Given the description of an element on the screen output the (x, y) to click on. 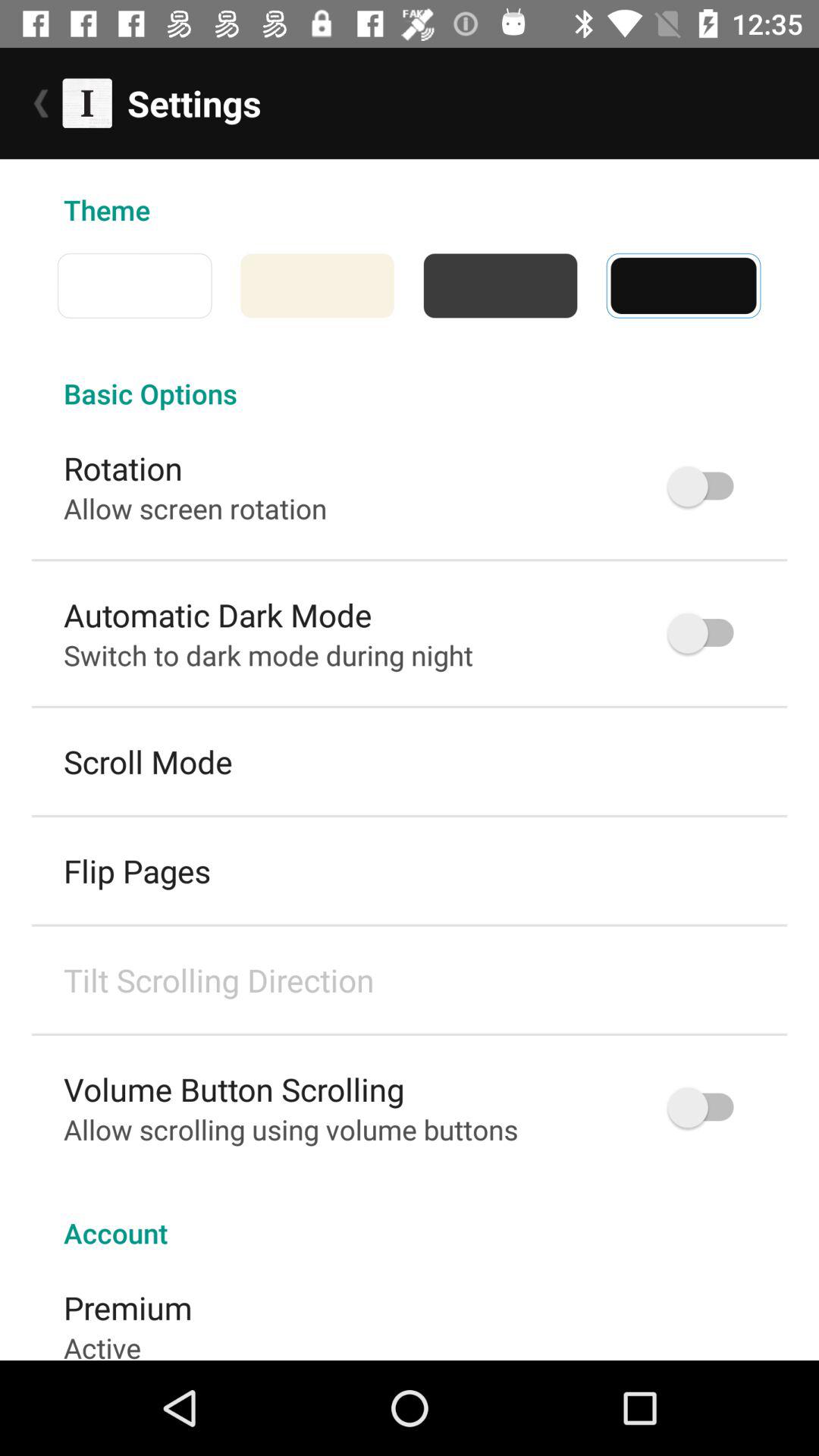
tap the allow scrolling using icon (290, 1129)
